Given the description of an element on the screen output the (x, y) to click on. 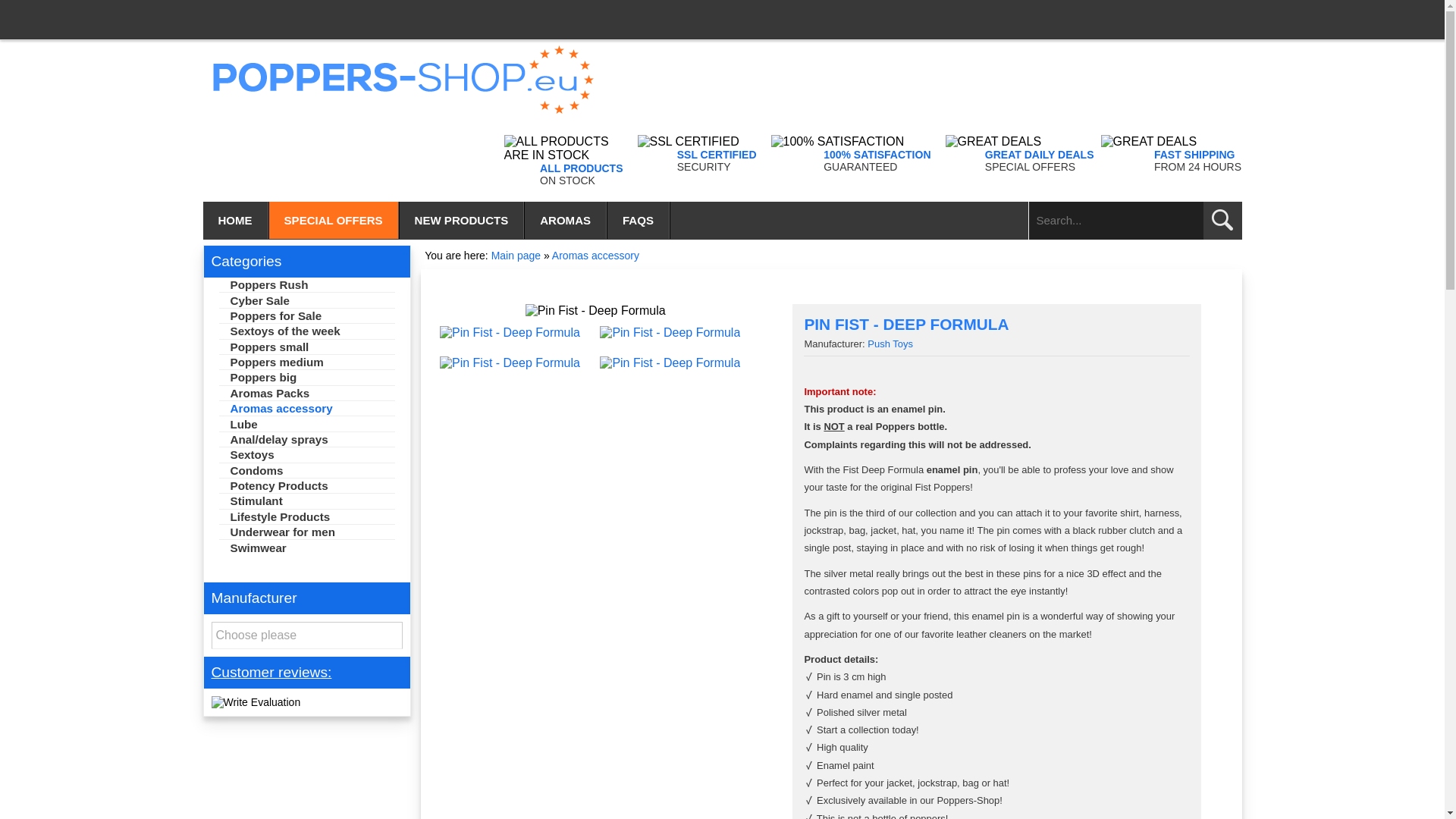
New Products (461, 220)
Special Offers (333, 220)
Sextoys of the week (306, 331)
Poppers for Sale (306, 315)
Poppers small (306, 346)
HOME (236, 220)
 Search!  (1221, 220)
Cyber Sale (306, 299)
AROMAS (565, 220)
Aromas (565, 220)
SPECIAL OFFERS (333, 220)
 Write Evaluation  (255, 702)
NEW PRODUCTS (461, 220)
FAQs (638, 220)
FAQS (638, 220)
